Given the description of an element on the screen output the (x, y) to click on. 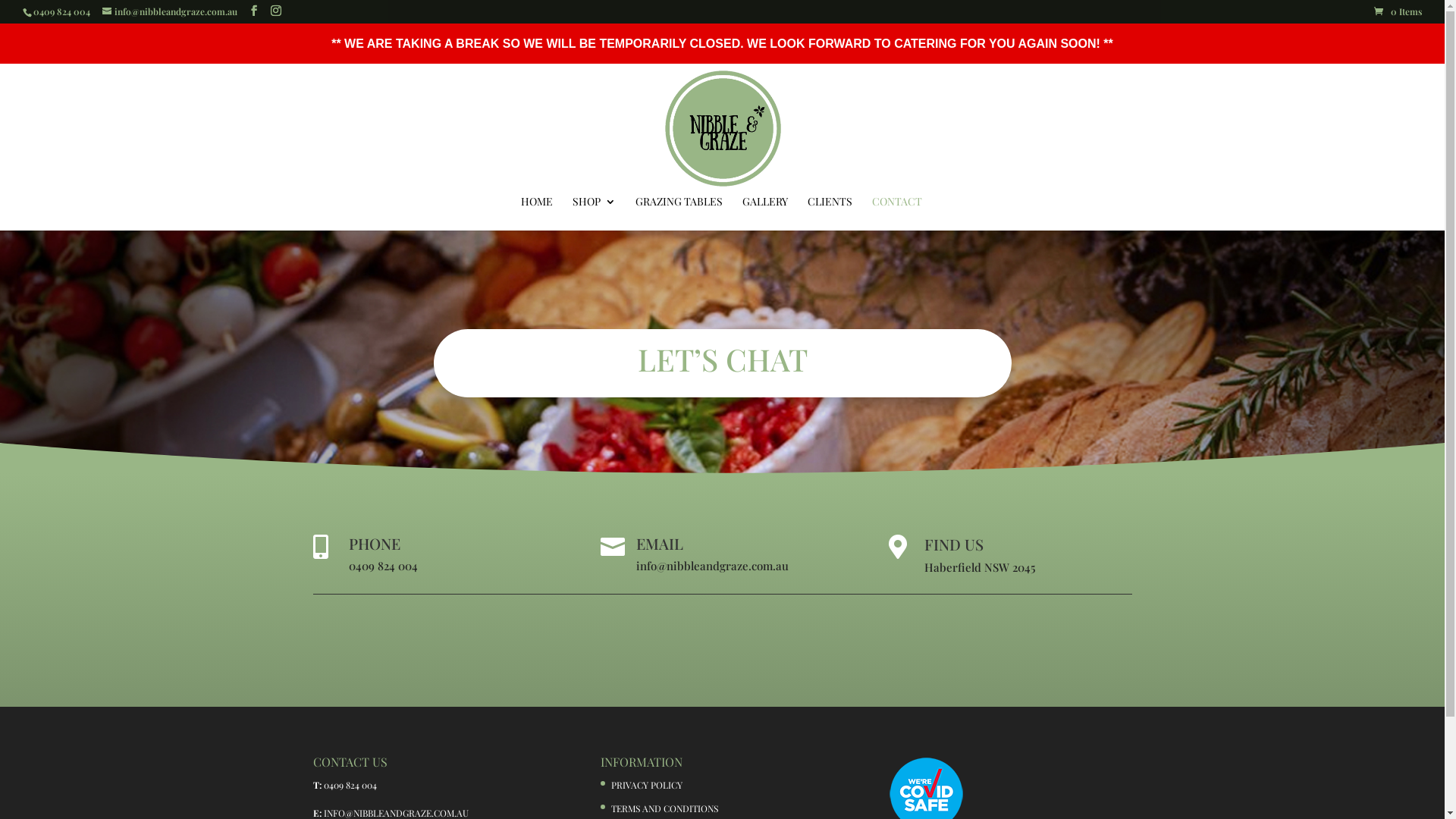
GRAZING TABLES Element type: text (678, 213)
0409 824 004 Element type: text (349, 784)
SHOP Element type: text (593, 213)
PRIVACY POLICY Element type: text (646, 784)
CONTACT Element type: text (897, 213)
HOME Element type: text (536, 213)
info@nibbleandgraze.com.au Element type: text (169, 11)
GALLERY Element type: text (764, 213)
0 Items Element type: text (1397, 11)
CLIENTS Element type: text (829, 213)
TERMS AND CONDITIONS Element type: text (664, 808)
